Given the description of an element on the screen output the (x, y) to click on. 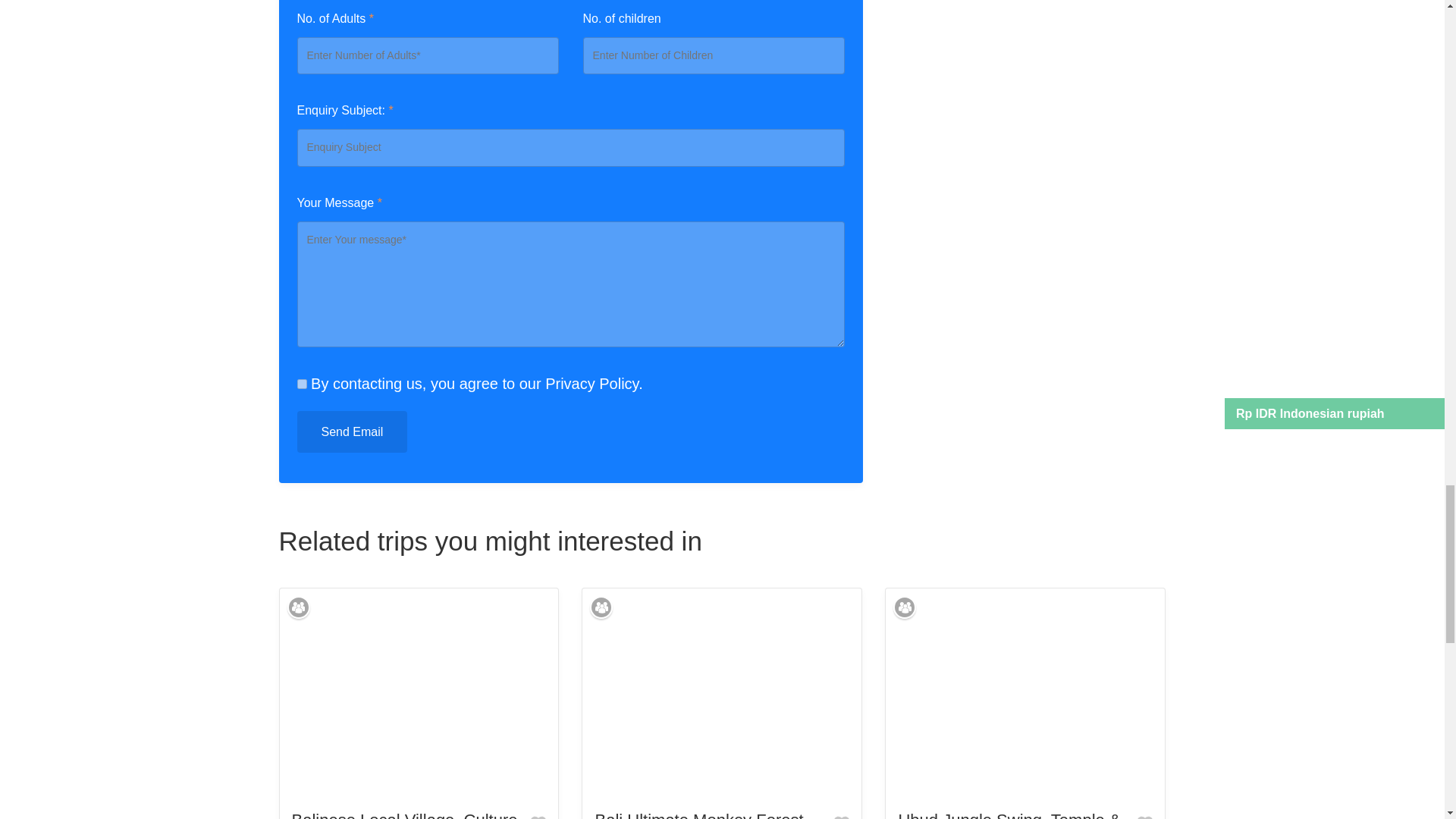
on (302, 384)
Add to wishlist (1145, 814)
Add to wishlist (538, 814)
Add to wishlist (841, 814)
Send Email (352, 431)
